Given the description of an element on the screen output the (x, y) to click on. 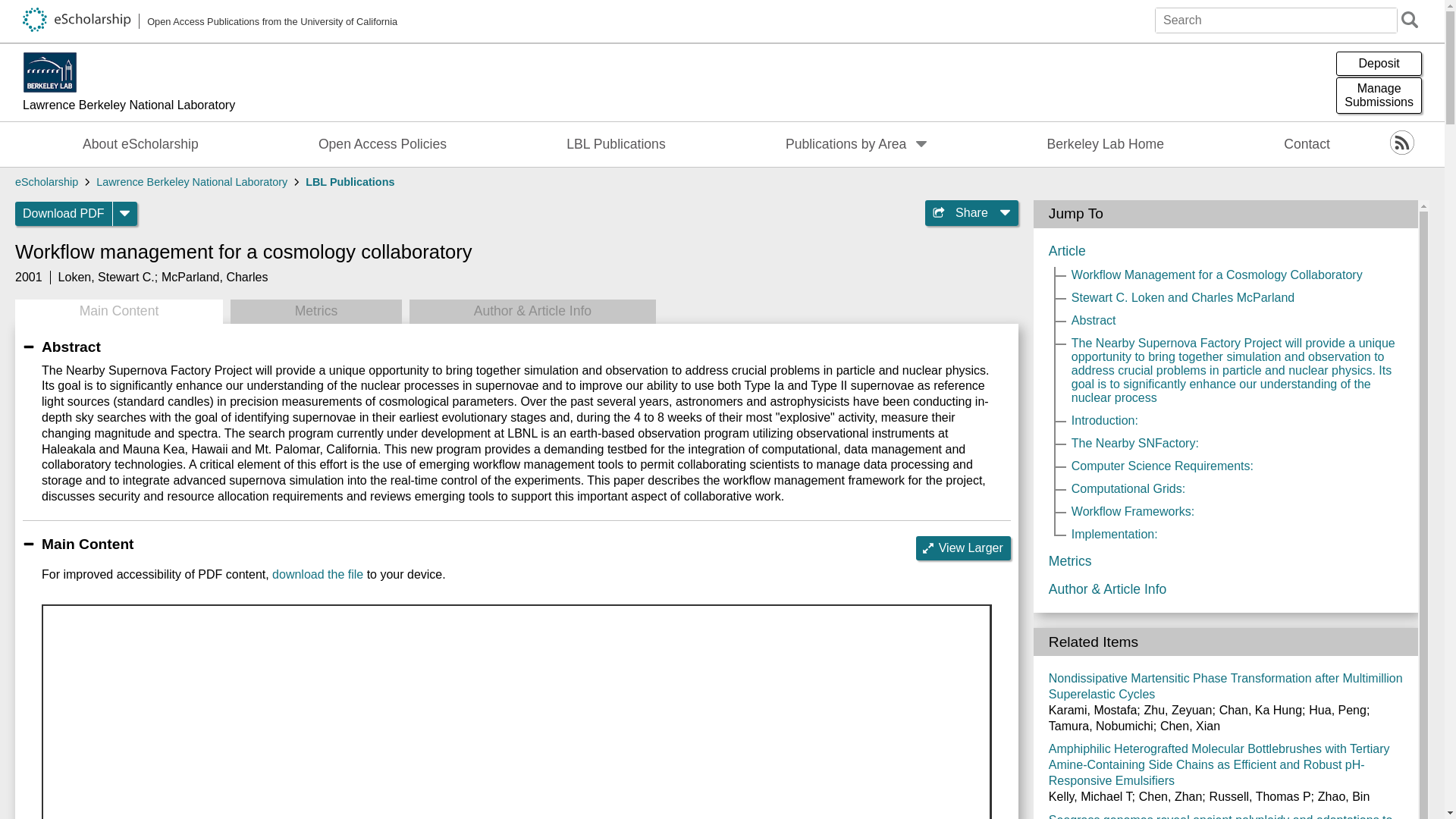
Contact (1307, 143)
Open Access Policies (382, 143)
Loken, Stewart C. (106, 277)
Open Access Publications from the University of California (210, 21)
About eScholarship (1379, 94)
McParland, Charles (140, 143)
Main Content (214, 277)
Download PDF (118, 311)
Metrics (63, 213)
